Given the description of an element on the screen output the (x, y) to click on. 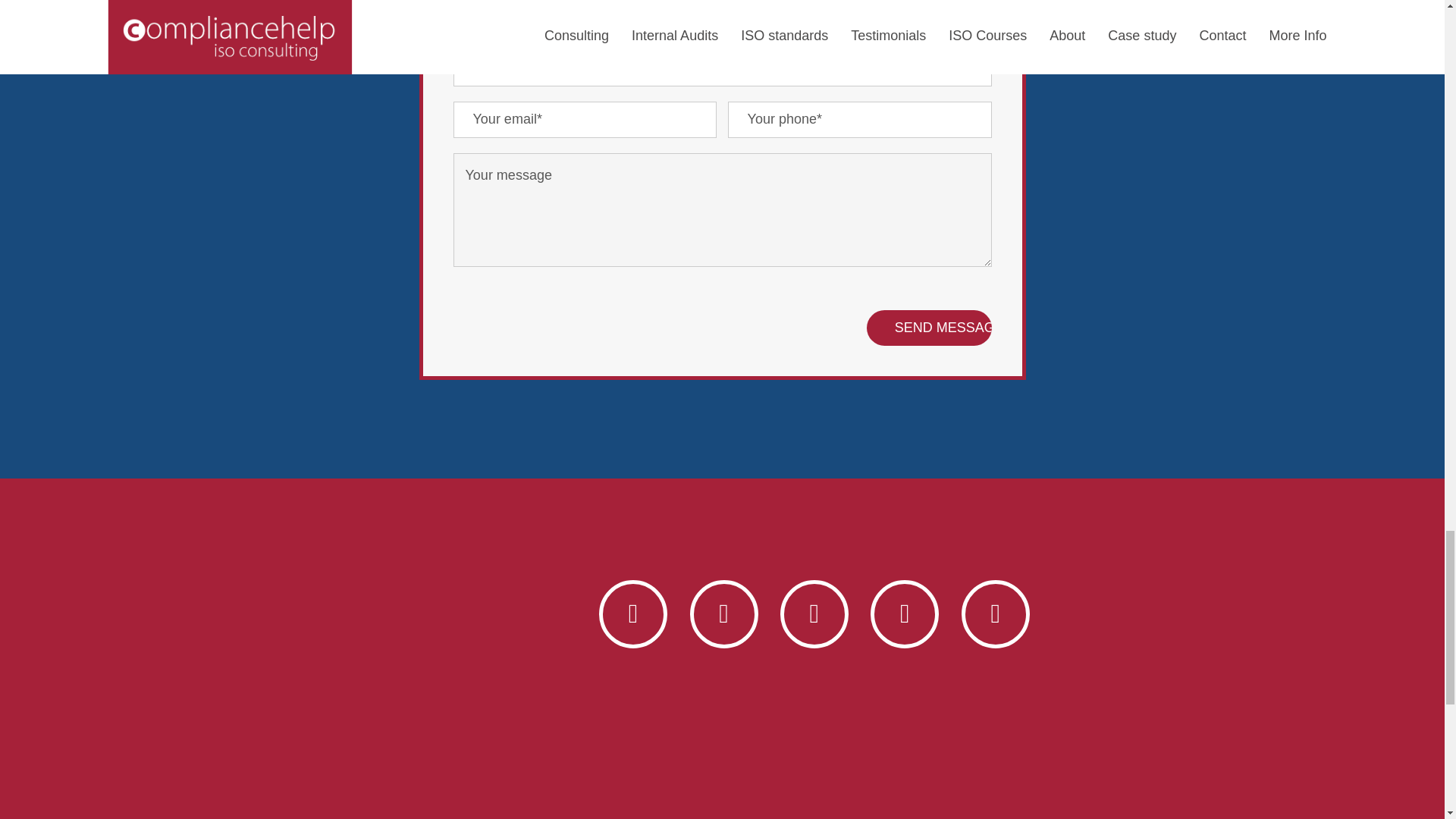
Send Message (928, 327)
